Given the description of an element on the screen output the (x, y) to click on. 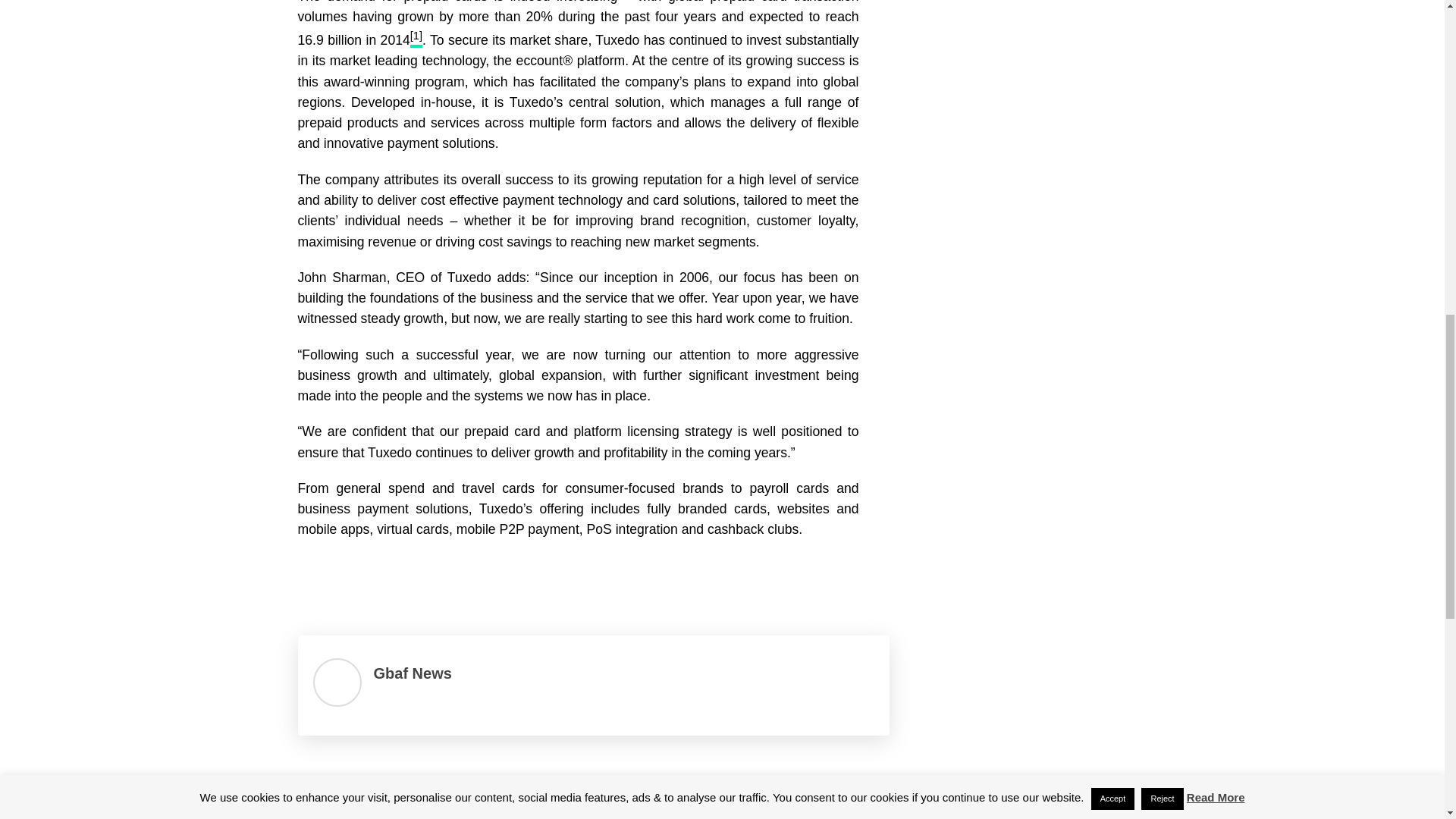
Share on Twitter (354, 578)
Gbaf News (411, 673)
Share on Linkedin (393, 578)
Share on Facebook (314, 578)
